Given the description of an element on the screen output the (x, y) to click on. 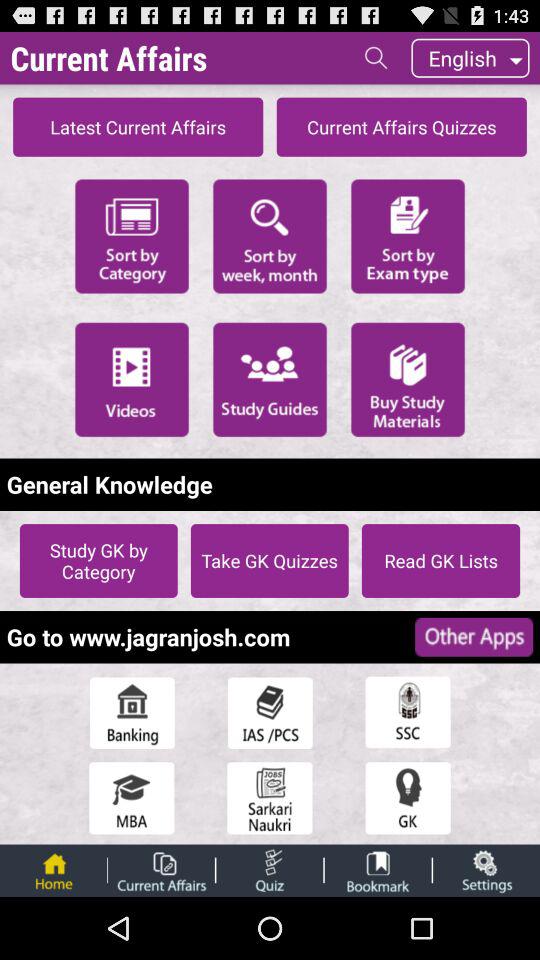
open the settings (486, 870)
